Given the description of an element on the screen output the (x, y) to click on. 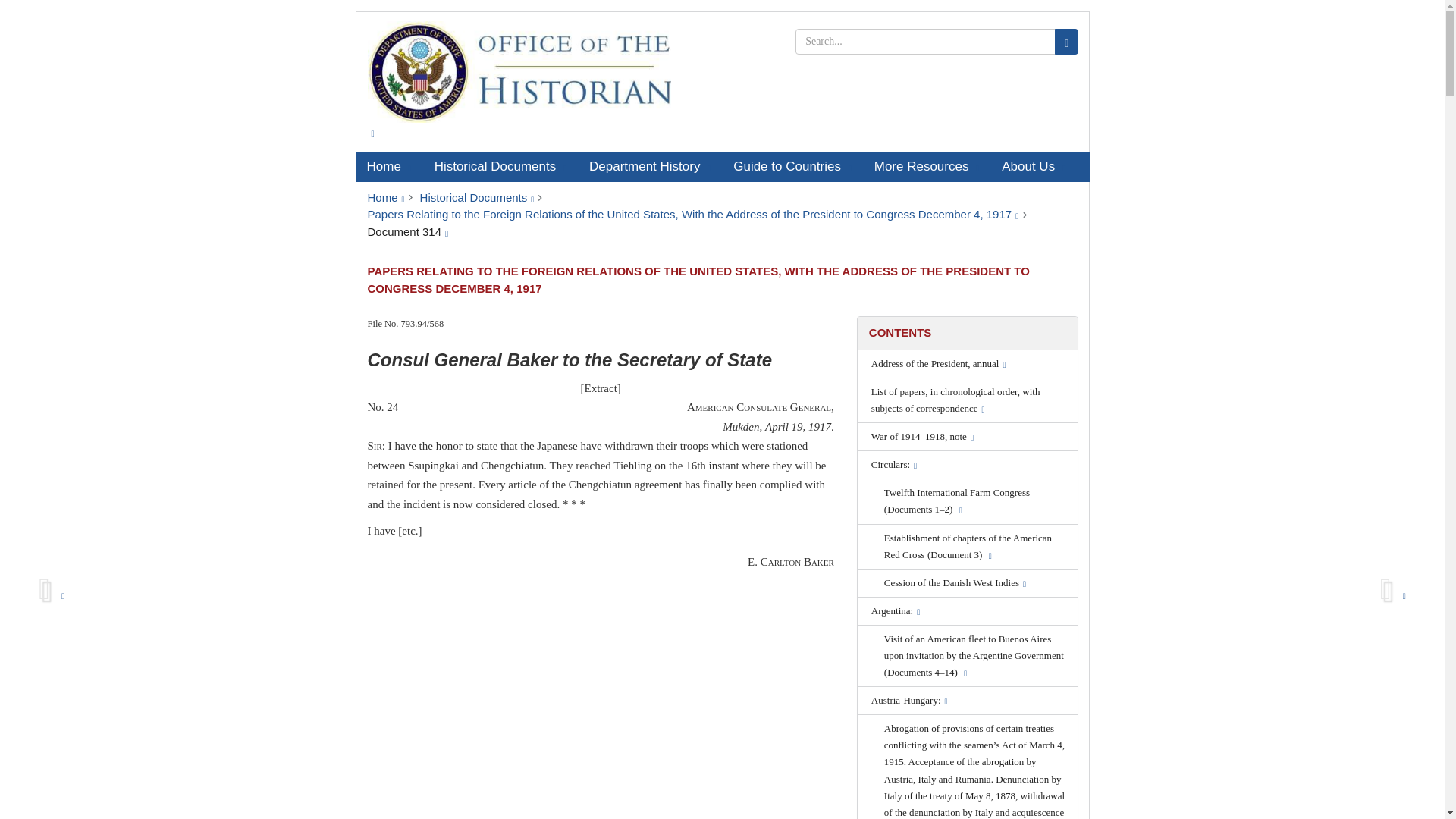
More Resources (926, 166)
Home (388, 166)
Historical Documents (477, 196)
Document 314 (407, 231)
Home (385, 196)
About Us (1033, 166)
Department History (650, 166)
Historical Documents (500, 166)
Guide to Countries (792, 166)
